Given the description of an element on the screen output the (x, y) to click on. 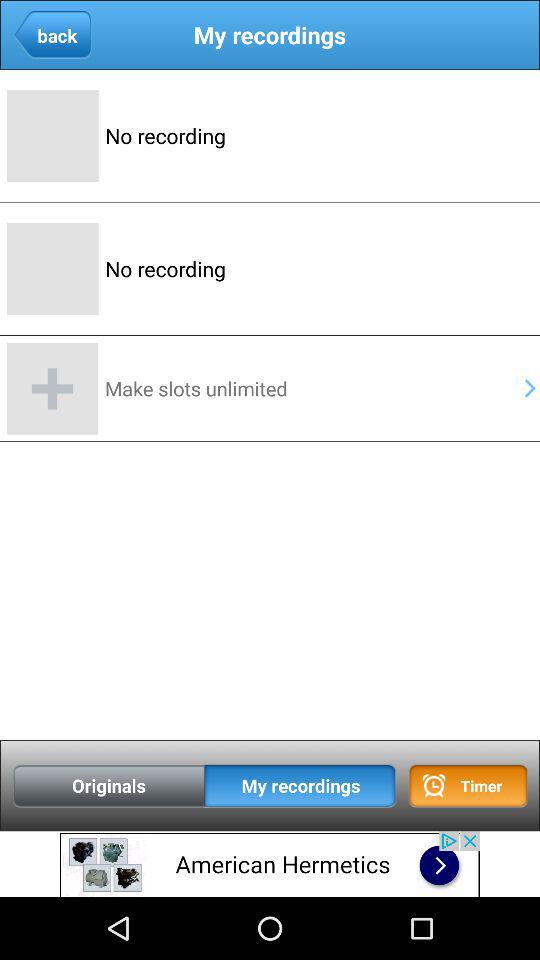
select advertisement (270, 864)
